Given the description of an element on the screen output the (x, y) to click on. 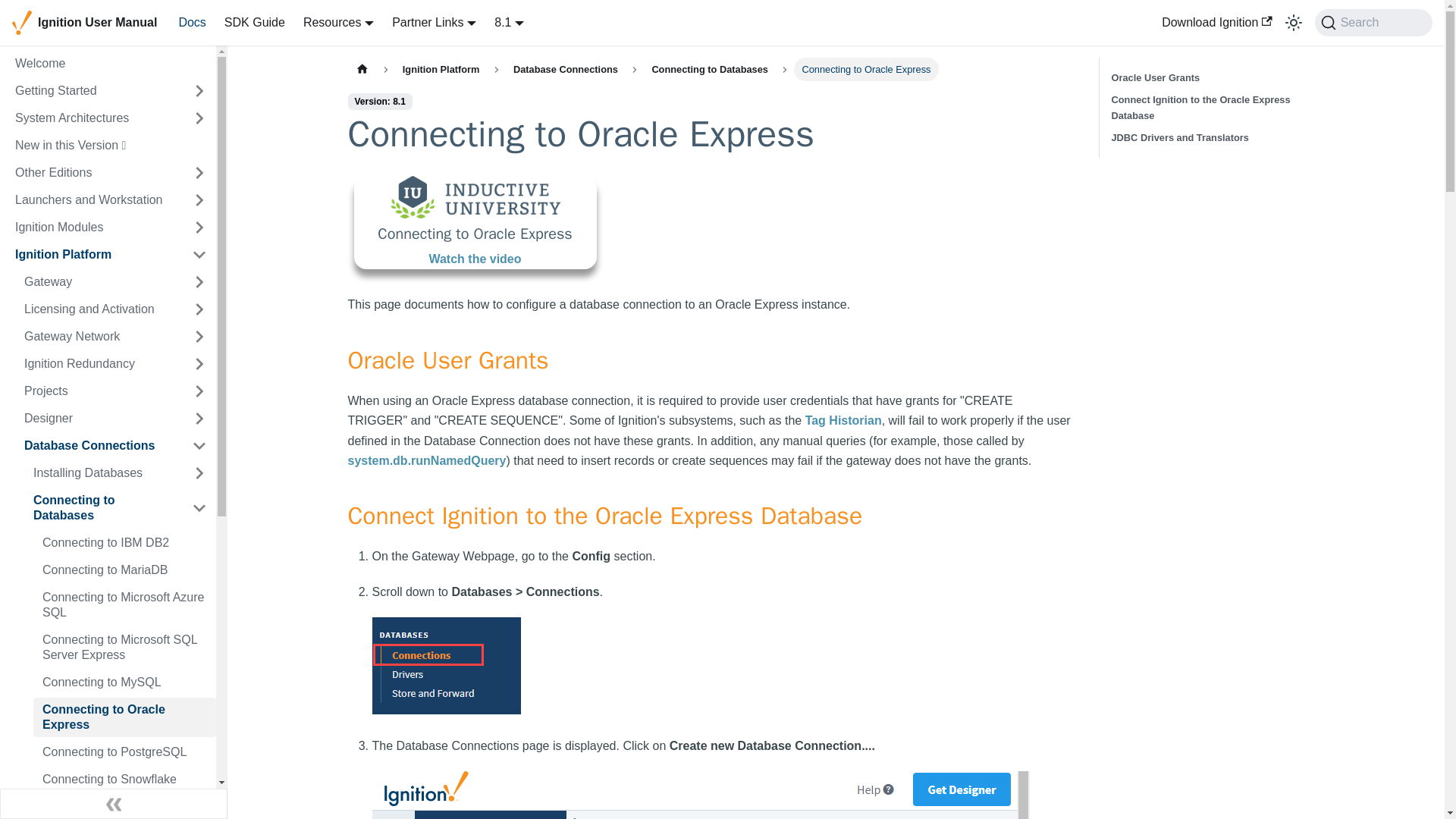
Download Ignition (1217, 22)
Ignition Platform (94, 254)
Other Editions (94, 172)
Ignition Modules (94, 227)
8.1 (509, 21)
SDK Guide (254, 22)
Resources (338, 21)
Gateway (98, 282)
Partner Links (433, 21)
Collapse sidebar (113, 803)
Docs (191, 22)
Launchers and Workstation (94, 200)
System Architectures (94, 118)
Ignition User Manual (84, 22)
